Given the description of an element on the screen output the (x, y) to click on. 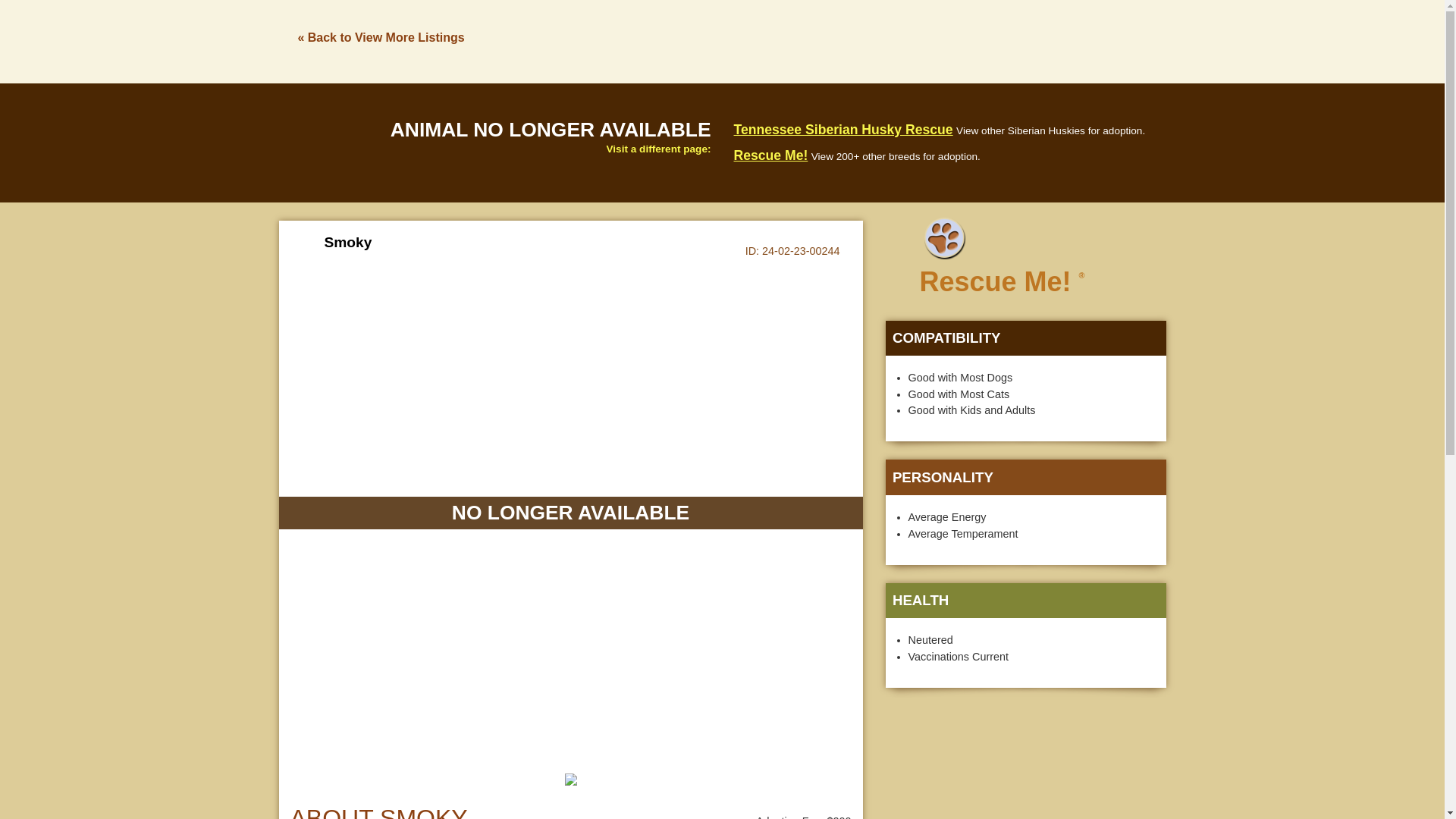
Tennessee Siberian Husky Rescue (843, 129)
Rescue Me! (770, 155)
